Given the description of an element on the screen output the (x, y) to click on. 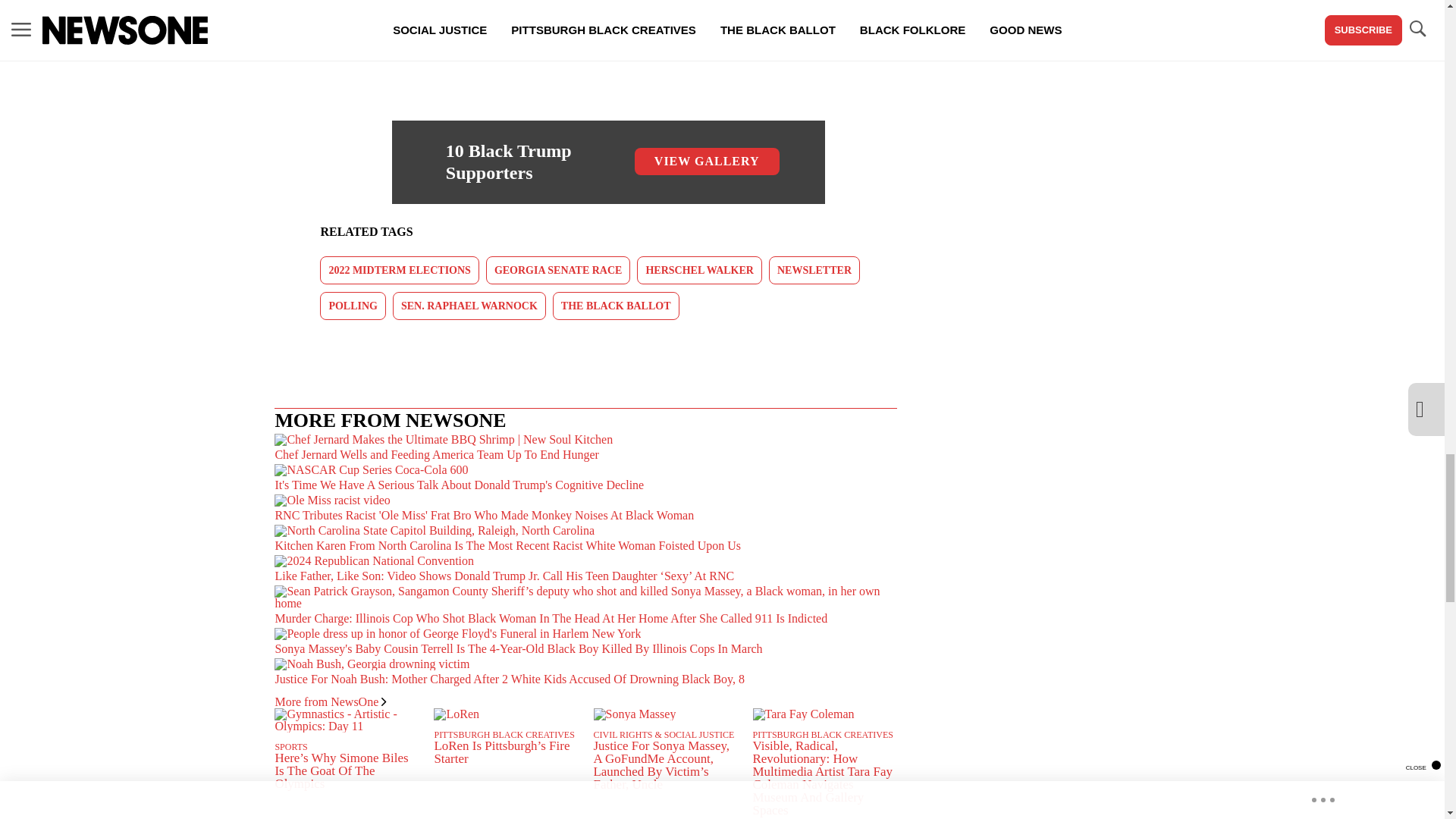
Media Playlist (461, 4)
